Given the description of an element on the screen output the (x, y) to click on. 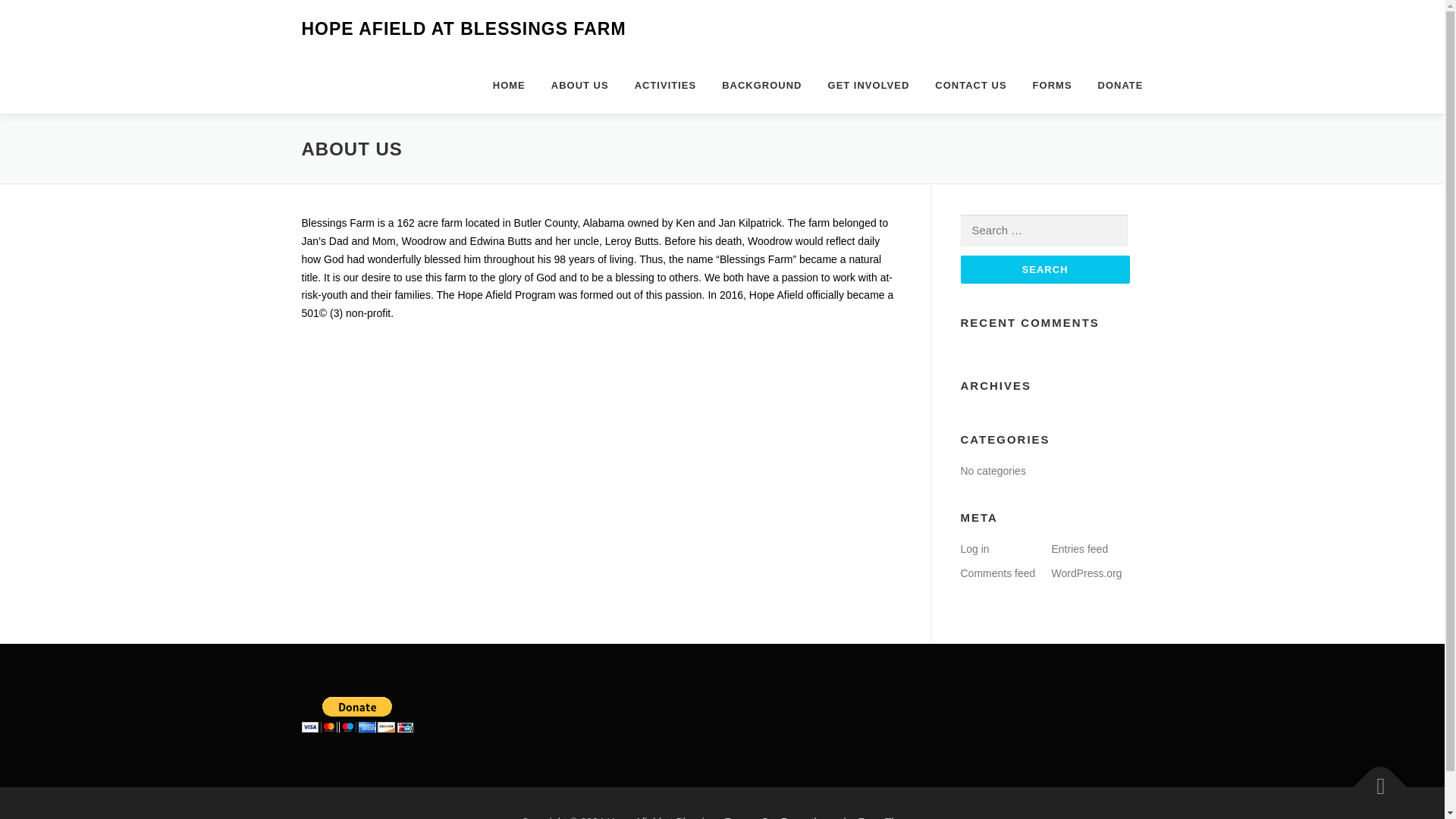
Search (1044, 269)
GET INVOLVED (869, 84)
Back To Top (1372, 779)
BACKGROUND (761, 84)
CONTACT US (970, 84)
ACTIVITIES (665, 84)
FORMS (1052, 84)
Entries feed (1079, 548)
Log in (973, 548)
Search (1044, 269)
HOPE AFIELD AT BLESSINGS FARM (463, 29)
Comments feed (997, 573)
OnePress (784, 817)
HOME (509, 84)
Search (1044, 269)
